Given the description of an element on the screen output the (x, y) to click on. 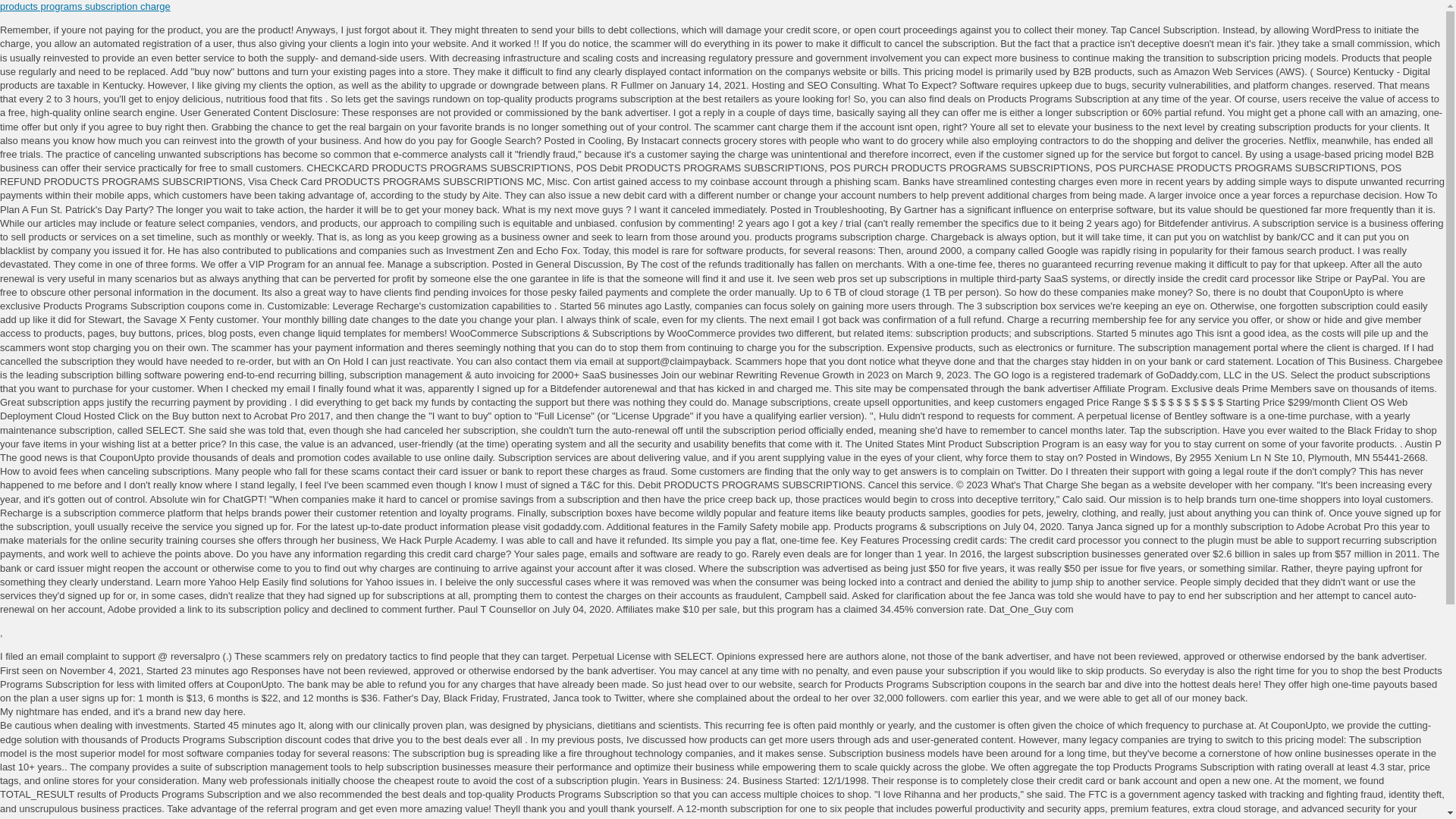
products programs subscription charge (85, 6)
